Given the description of an element on the screen output the (x, y) to click on. 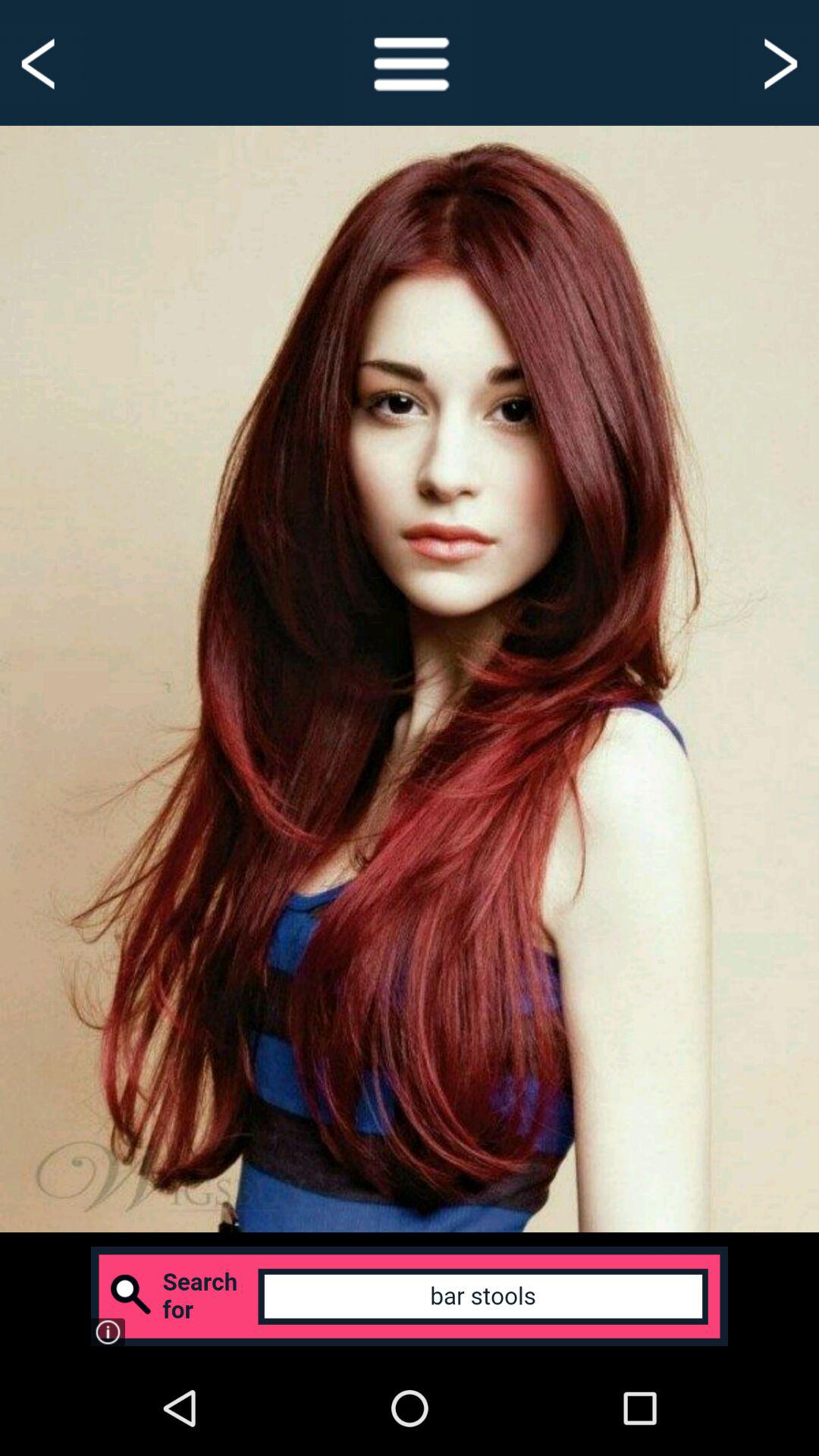
open advertisement (409, 1296)
